Given the description of an element on the screen output the (x, y) to click on. 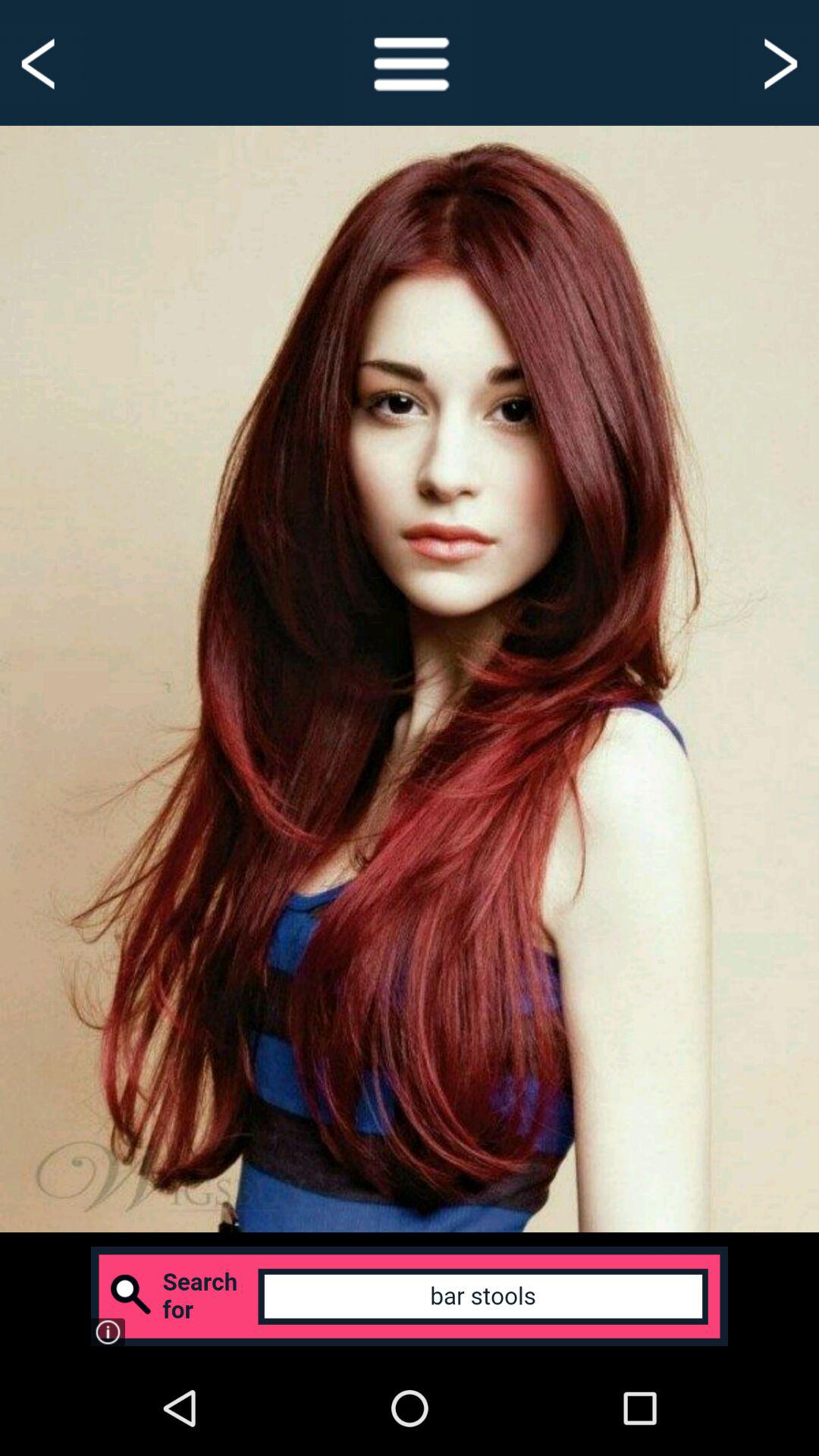
open advertisement (409, 1296)
